Given the description of an element on the screen output the (x, y) to click on. 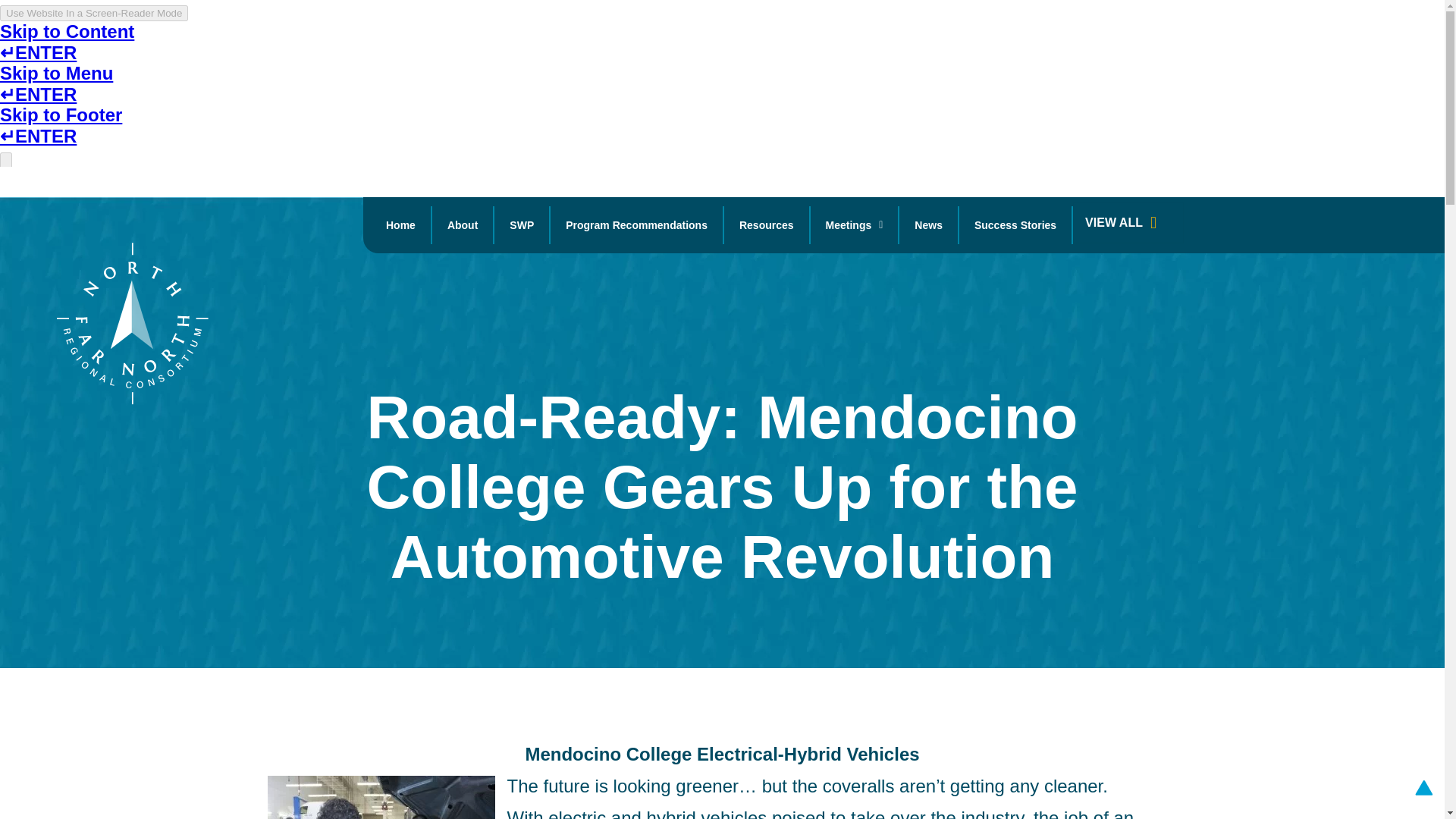
Success Stories (1015, 225)
About (462, 225)
News (928, 225)
SWP (521, 225)
Home (400, 225)
Resources (766, 225)
Program Recommendations (636, 225)
Meetings (854, 225)
